Given the description of an element on the screen output the (x, y) to click on. 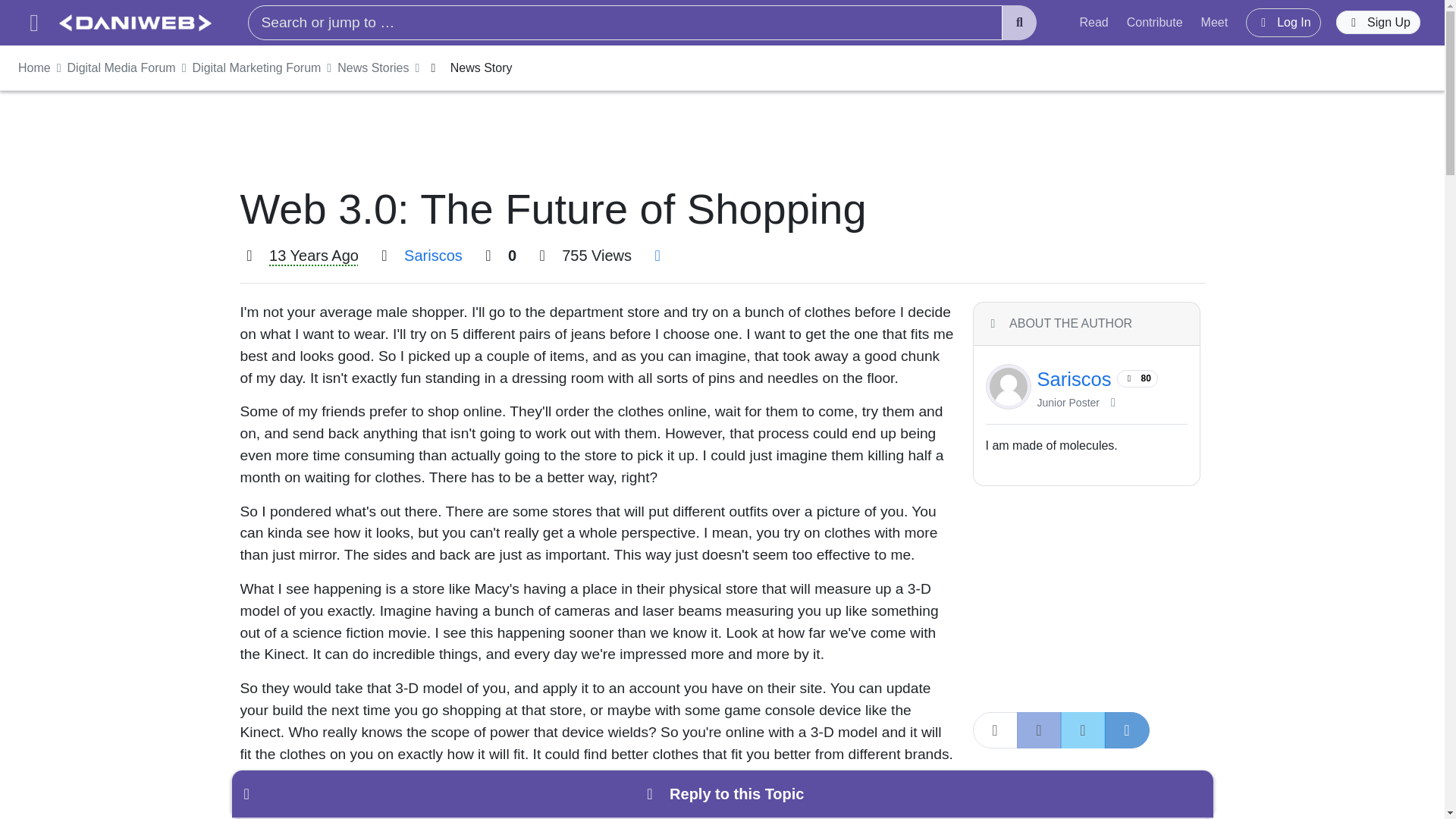
Share (994, 729)
Facebook (1038, 729)
Read (1093, 22)
News Stories (373, 66)
Twitter (1082, 729)
Toggle Menu (33, 22)
Log In (1283, 22)
Search (1018, 22)
Share (656, 255)
LinkedIn (1125, 729)
